Given the description of an element on the screen output the (x, y) to click on. 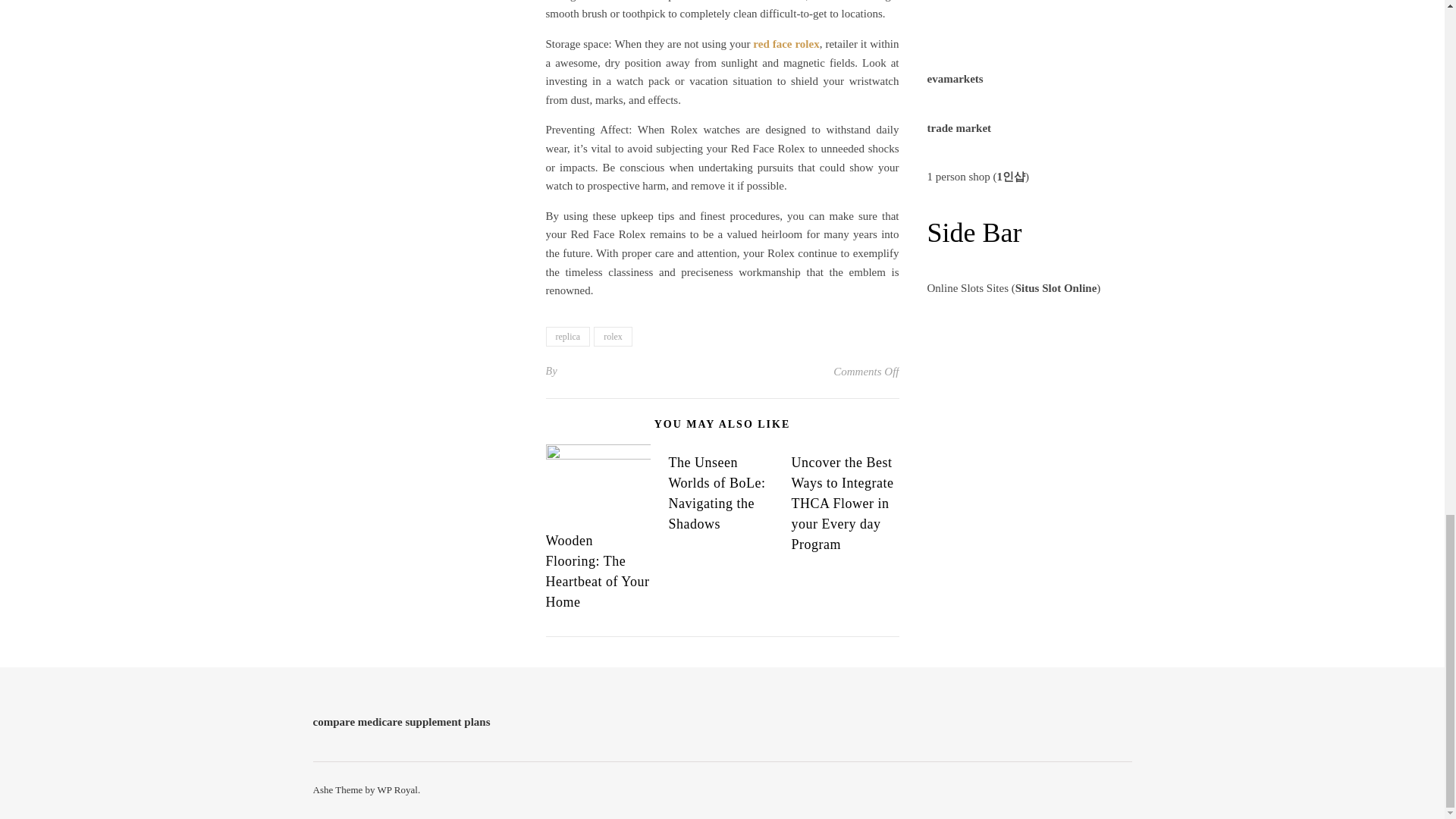
evamarkets (954, 78)
replica (568, 336)
The Unseen Worlds of BoLe: Navigating the Shadows (716, 493)
Wooden Flooring: The Heartbeat of Your Home (597, 571)
red face rolex (785, 43)
rolex (612, 336)
